Given the description of an element on the screen output the (x, y) to click on. 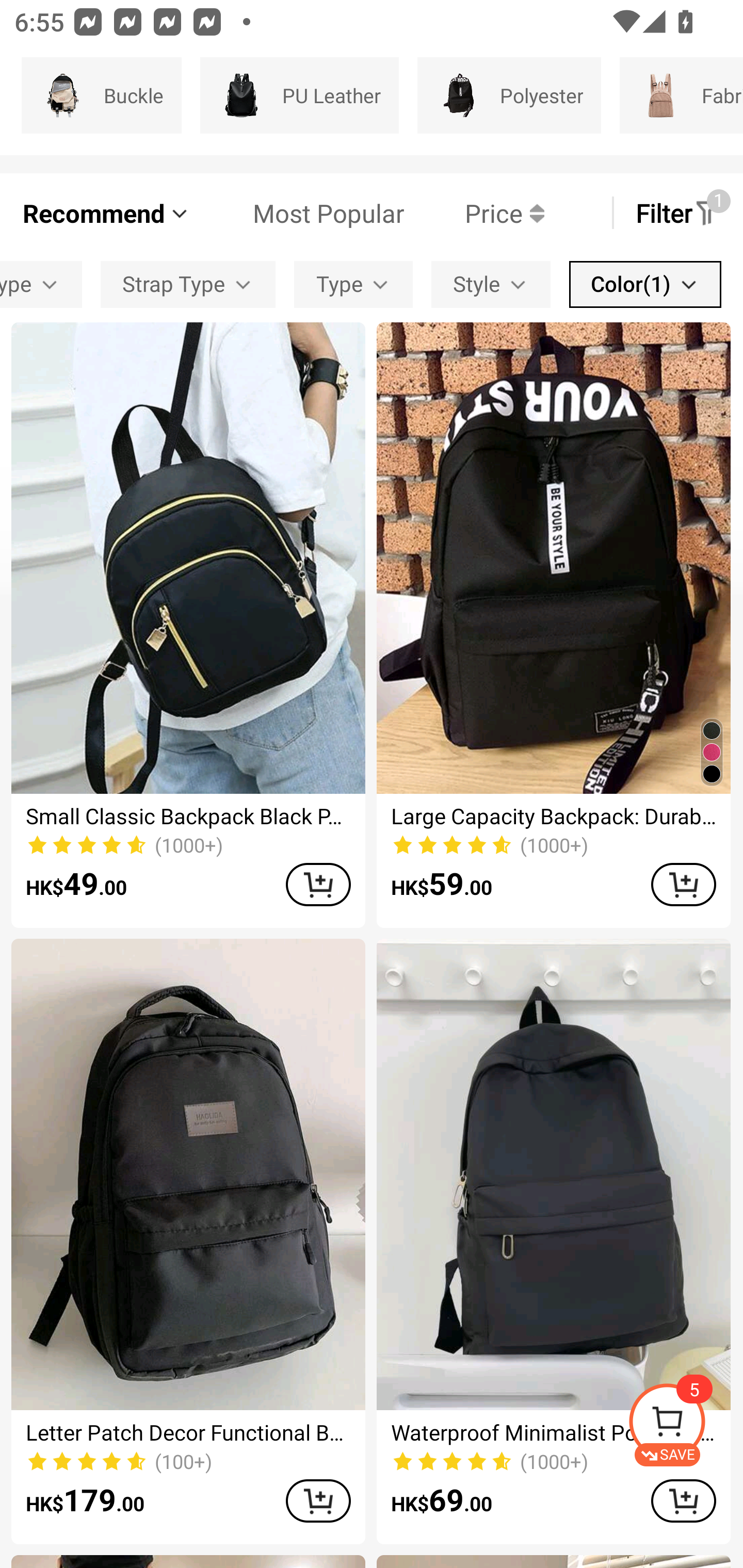
Buckle (101, 95)
PU Leather (298, 95)
Polyester (509, 95)
Fabric (681, 95)
Recommend (106, 213)
Most Popular (297, 213)
Price (474, 213)
Filter 1 (677, 213)
Closure Type (40, 283)
Strap Type (187, 283)
Type (353, 283)
Style (490, 283)
Color(1) (645, 283)
ADD TO CART (318, 884)
ADD TO CART (683, 884)
SAVE (685, 1424)
ADD TO CART (318, 1500)
ADD TO CART (683, 1500)
